Given the description of an element on the screen output the (x, y) to click on. 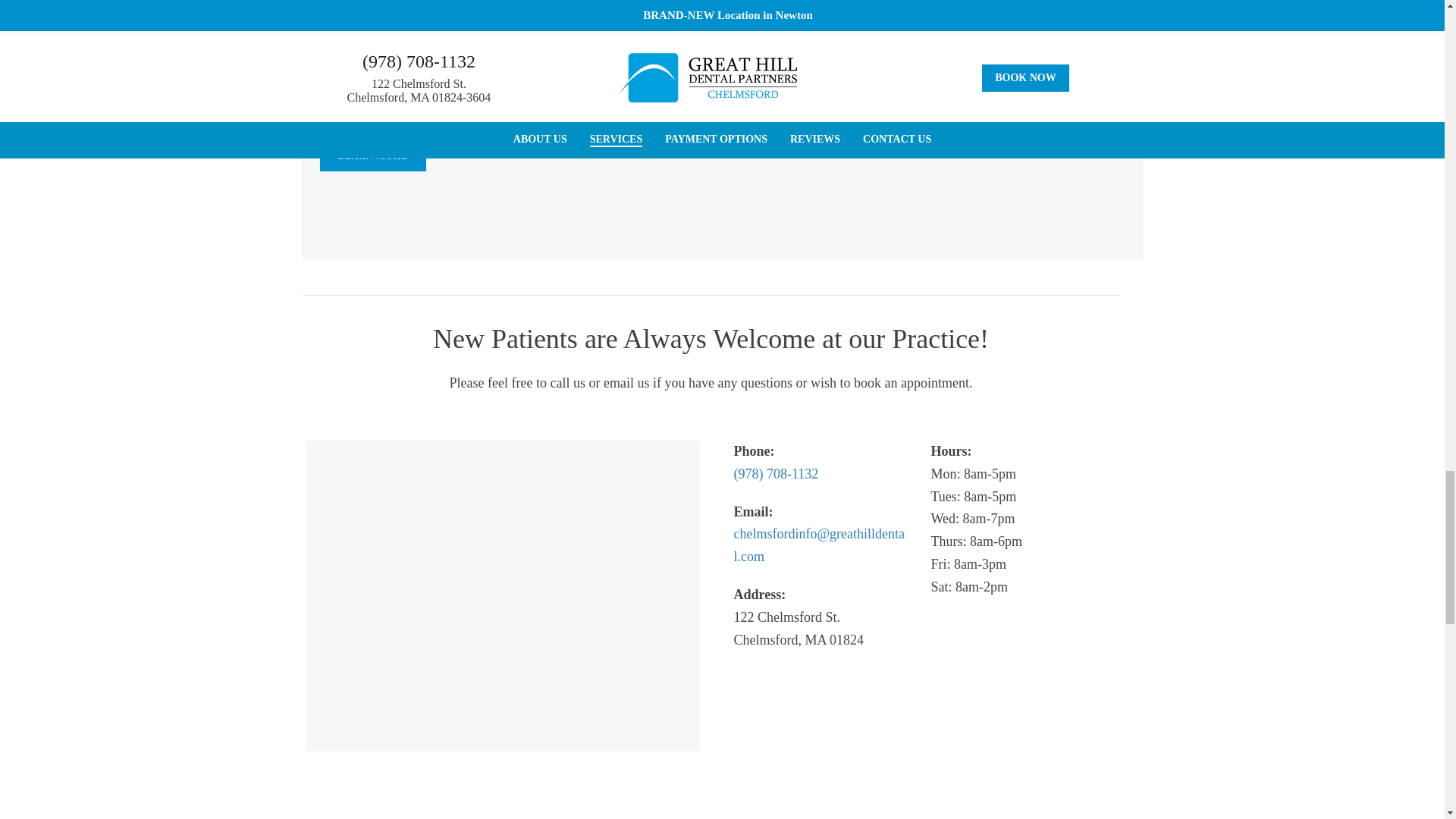
LEARN MORE (373, 155)
